Given the description of an element on the screen output the (x, y) to click on. 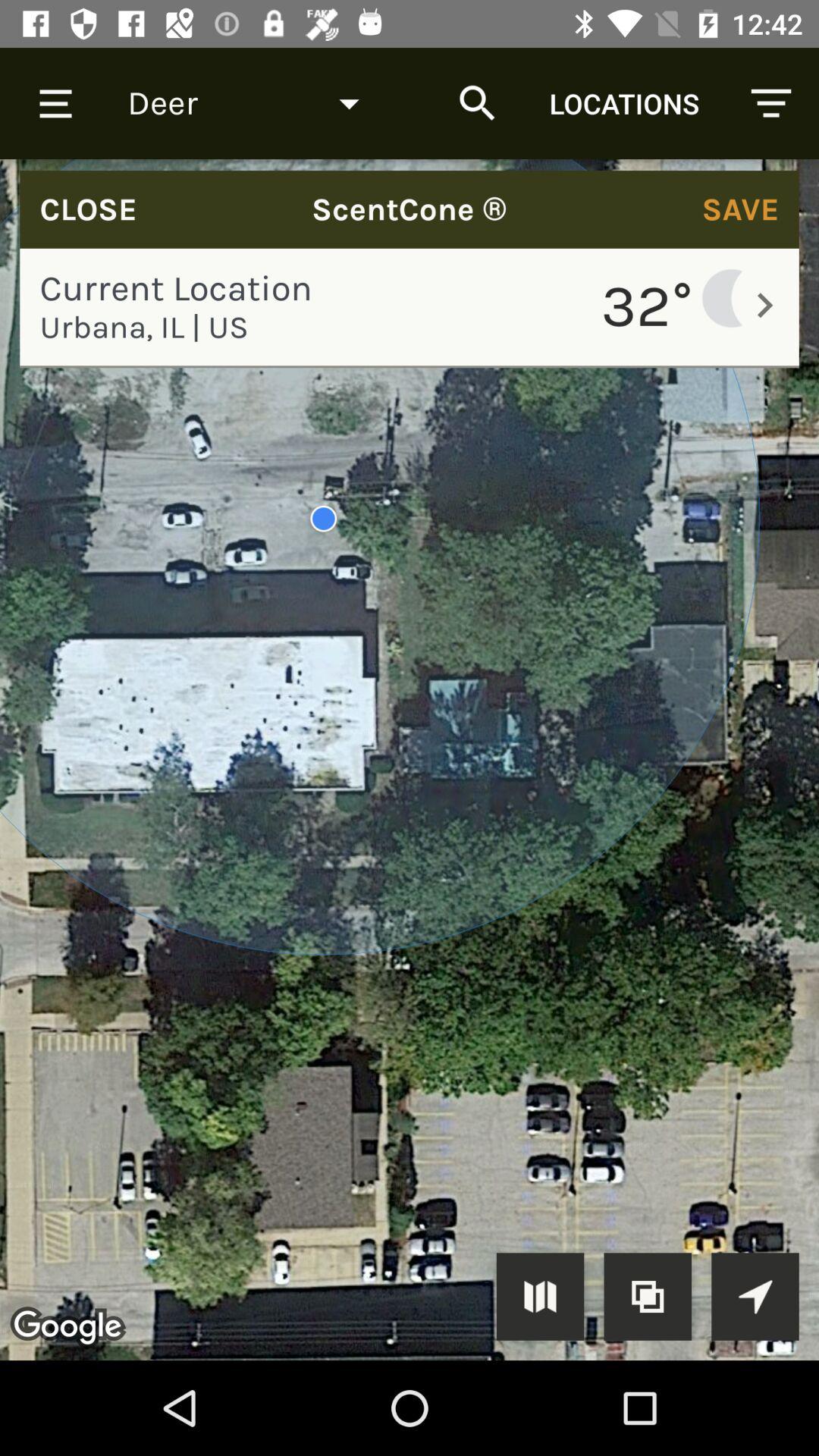
to change direction (755, 1296)
